Given the description of an element on the screen output the (x, y) to click on. 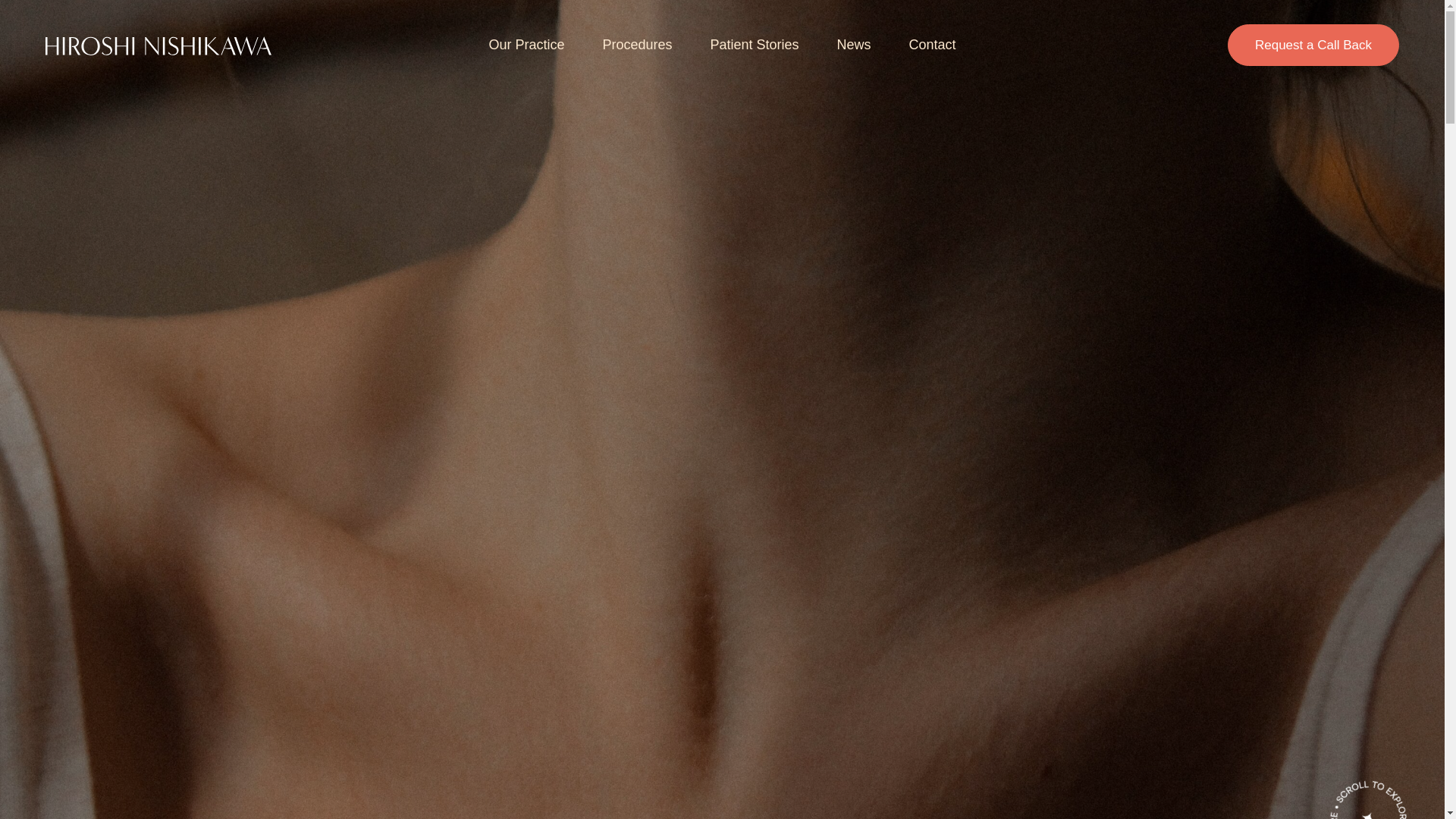
Procedures (636, 44)
Our Practice (525, 44)
Patient Stories (753, 44)
Procedures (636, 44)
Our Practice (525, 44)
News (853, 44)
